Given the description of an element on the screen output the (x, y) to click on. 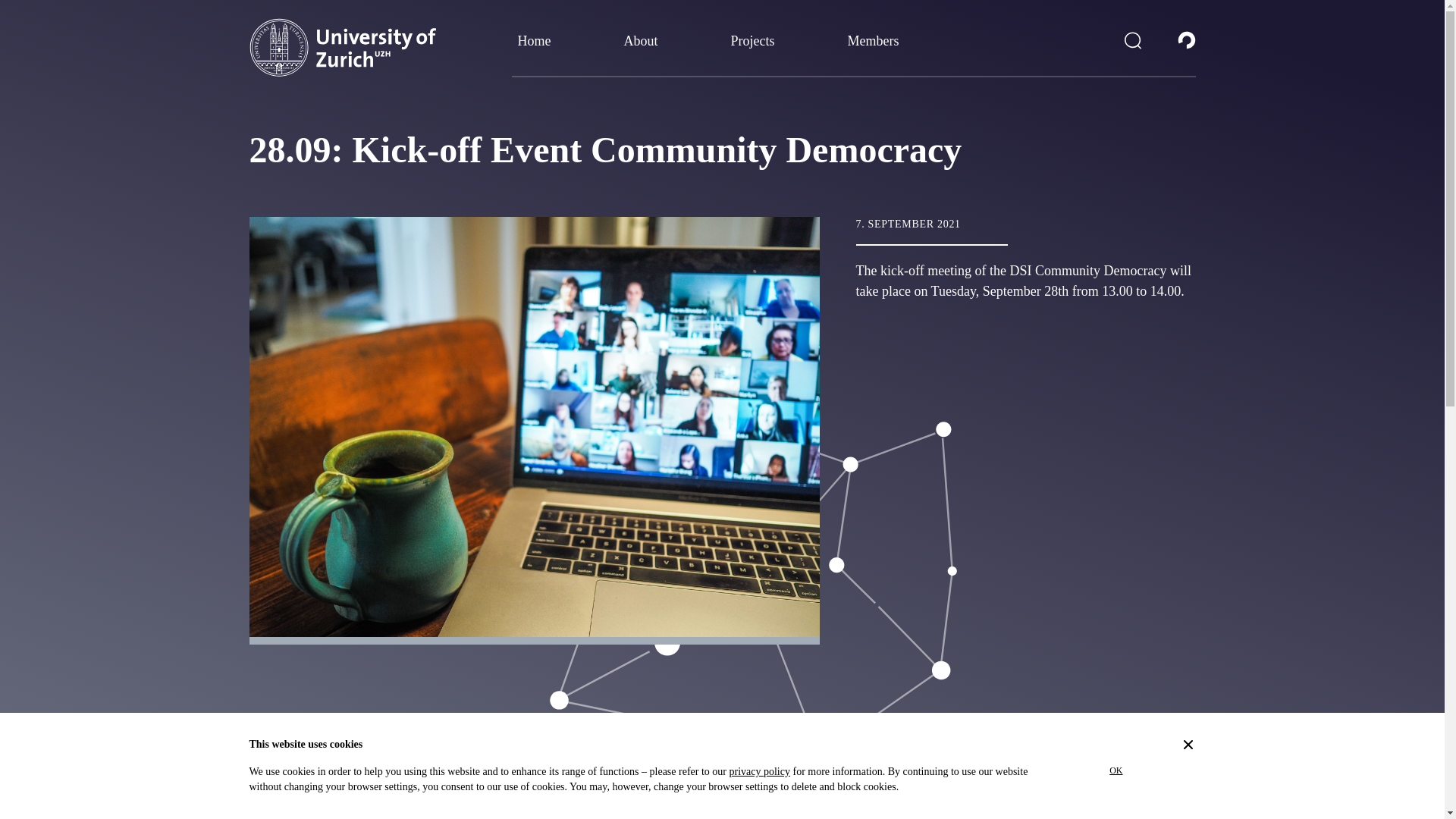
Members (873, 47)
Projects (752, 47)
